Given the description of an element on the screen output the (x, y) to click on. 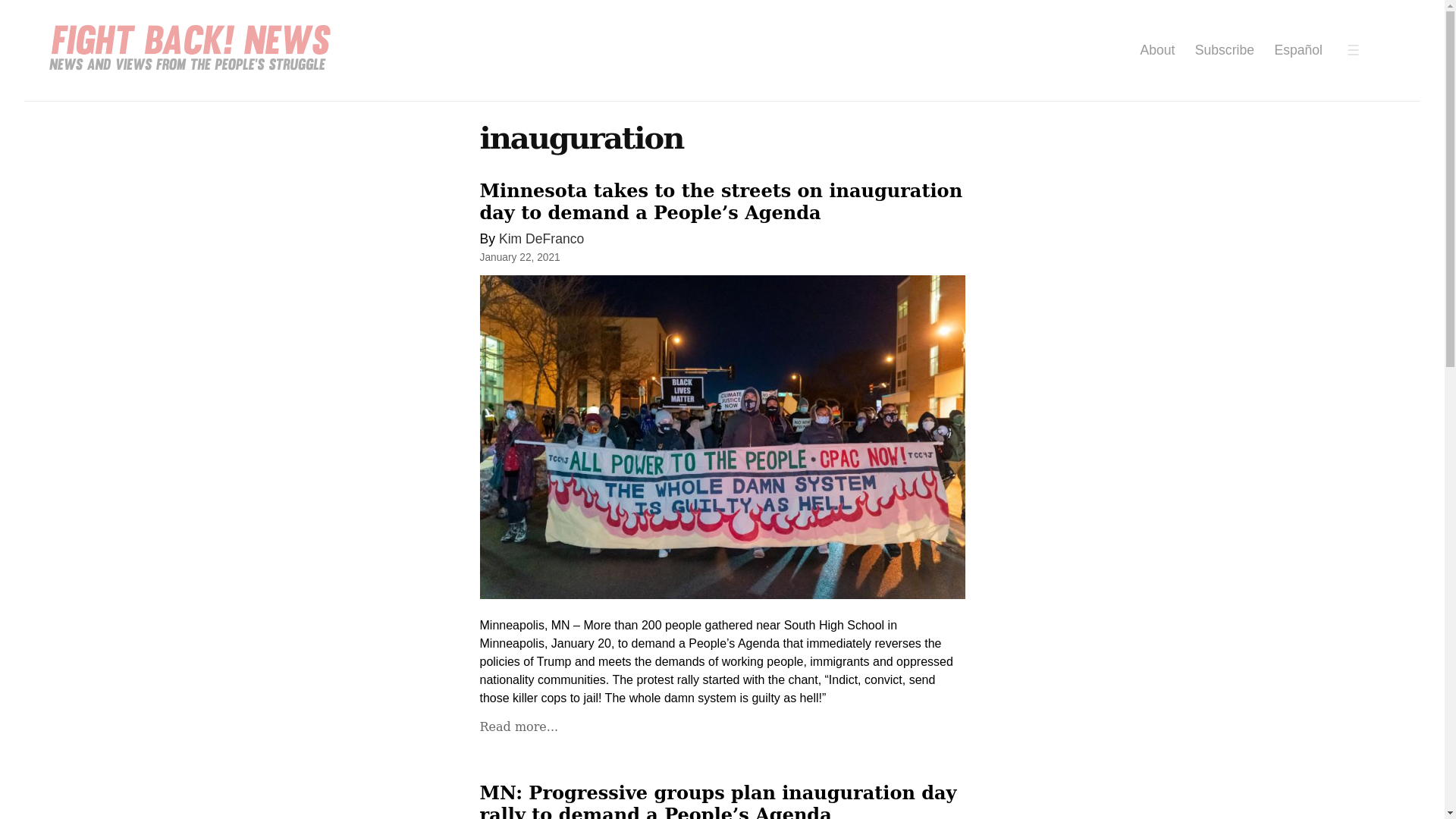
Subscribe (1224, 50)
Read more... (518, 726)
Kim DeFranco (541, 238)
About (1157, 50)
